Given the description of an element on the screen output the (x, y) to click on. 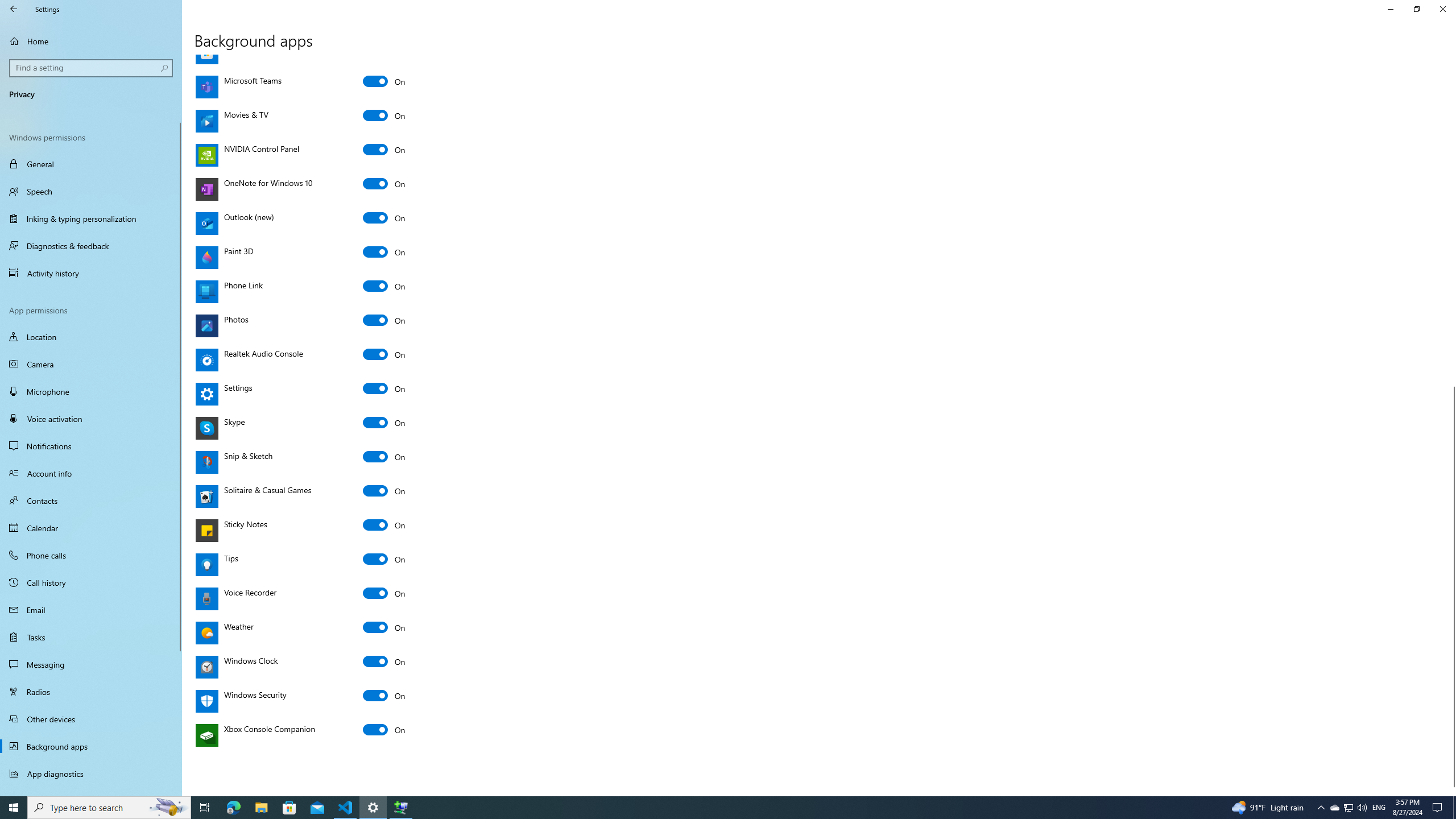
Camera (91, 363)
Action Center, No new notifications (1439, 807)
Tasks (91, 636)
Back (13, 9)
Voice activation (91, 418)
Notifications (91, 445)
Tray Input Indicator - English (United States) (1378, 807)
Diagnostics & feedback (91, 245)
Windows Security (384, 695)
Restore Settings (1416, 9)
User Promoted Notification Area (1347, 807)
Q2790: 100% (1361, 807)
